Given the description of an element on the screen output the (x, y) to click on. 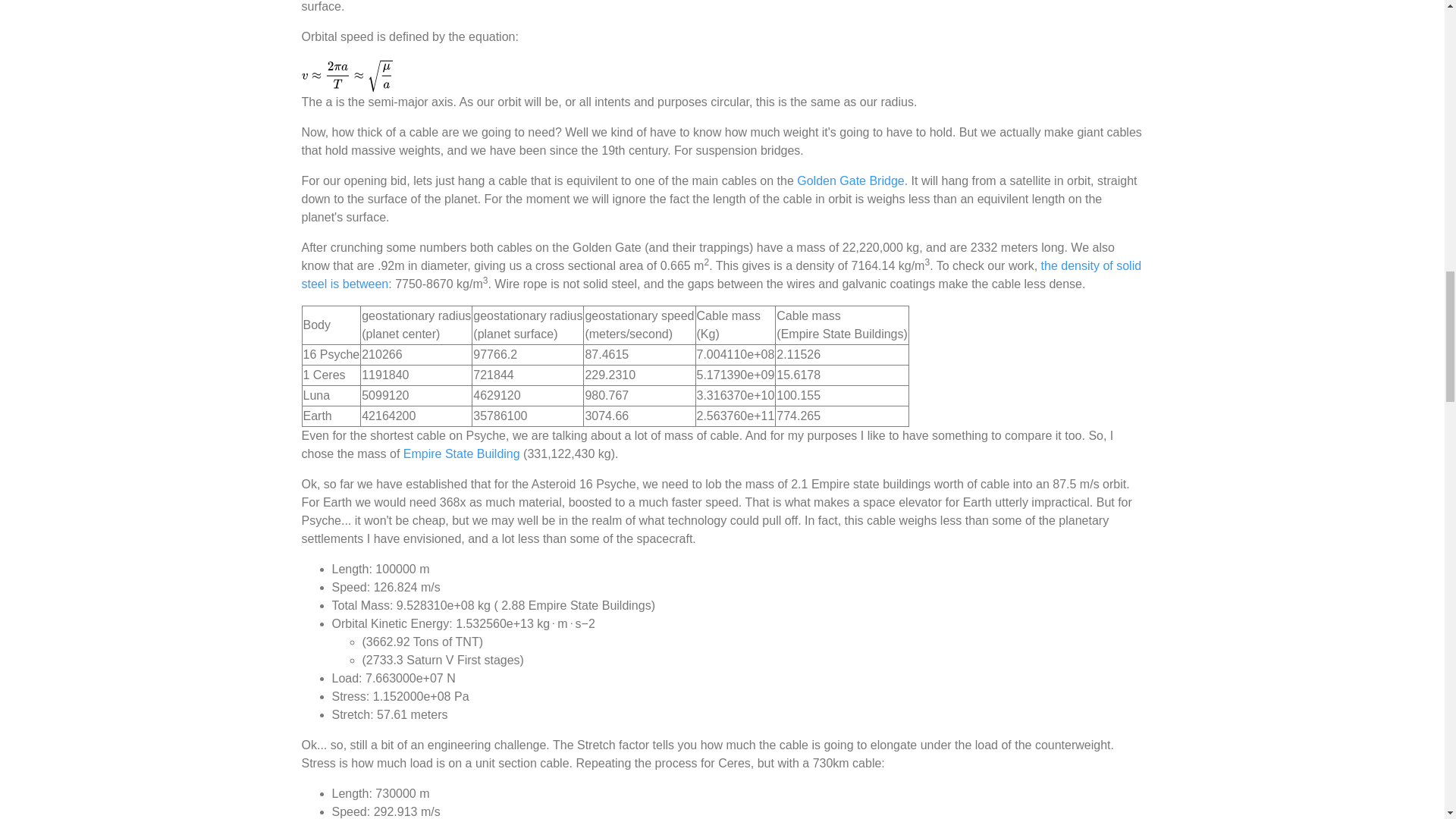
Empire State Building (461, 453)
the density of solid steel is between (721, 274)
Golden Gate Bridge (850, 180)
